Given the description of an element on the screen output the (x, y) to click on. 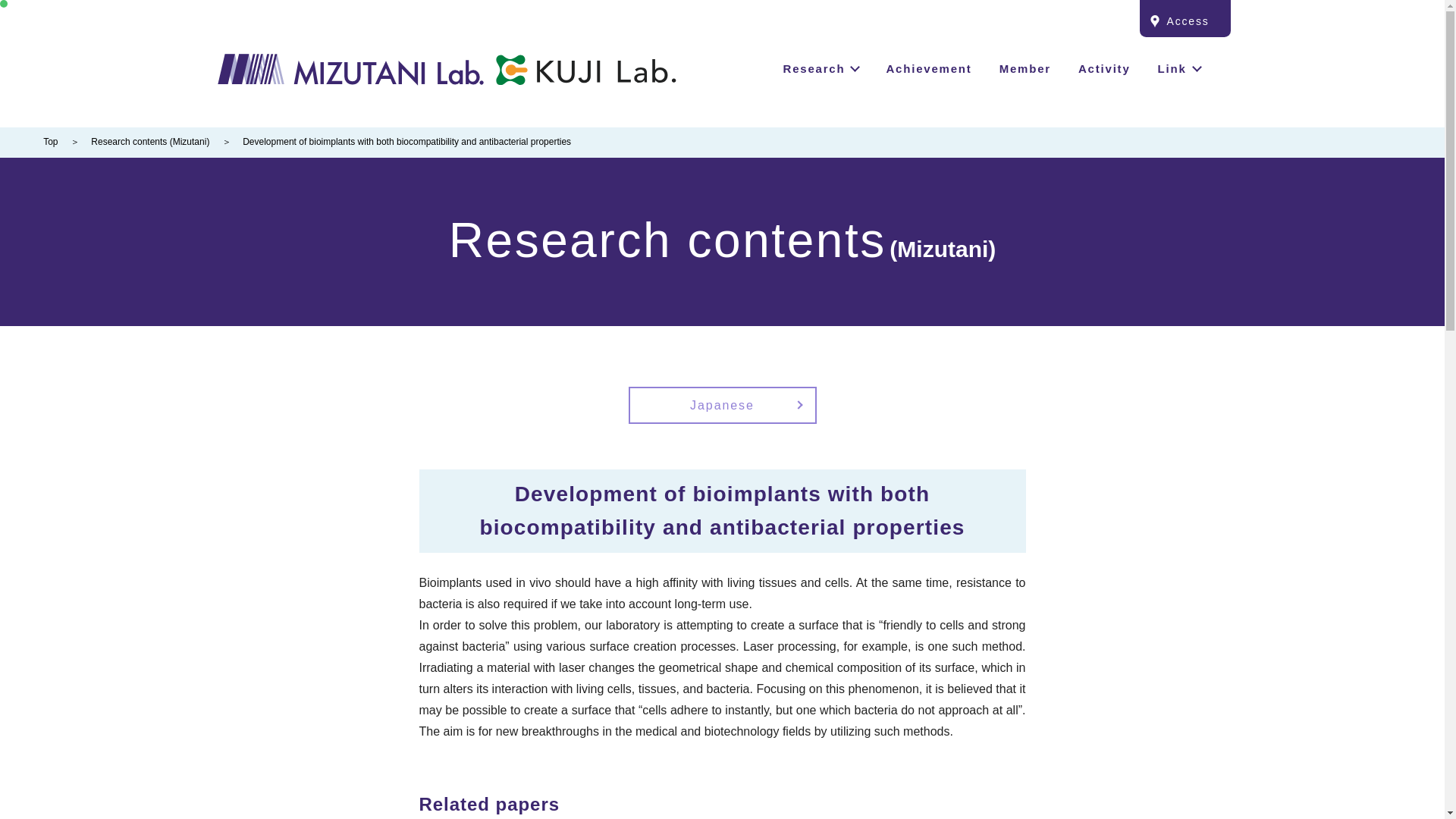
Member (1024, 68)
Top (50, 141)
MIZUTANI Lab. (350, 69)
Japanese (721, 405)
Achievement (928, 68)
Activity (1104, 68)
KUJI Lab. (991, 68)
Access (586, 76)
